Given the description of an element on the screen output the (x, y) to click on. 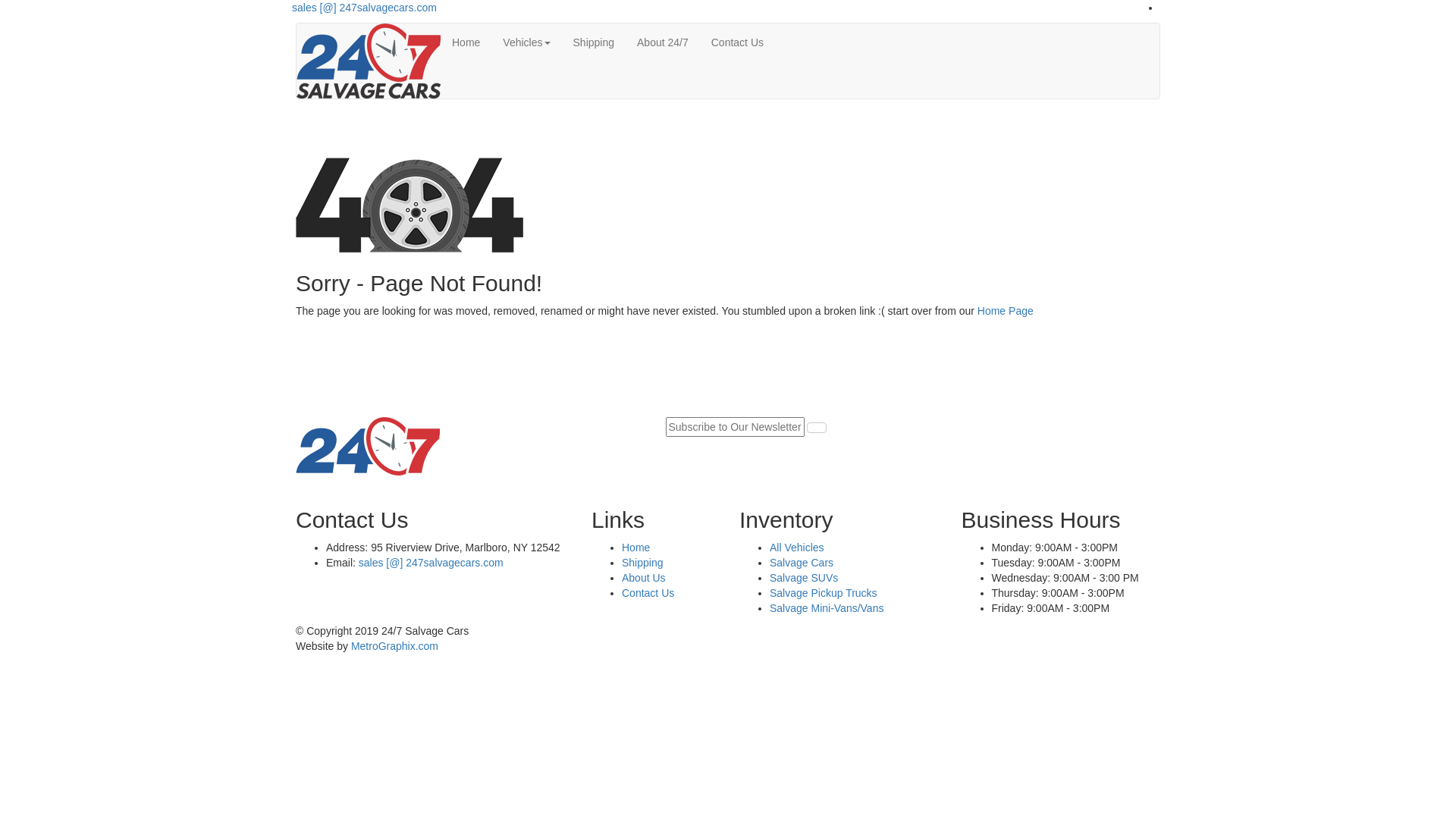
sales [@] 247salvagecars.com Element type: text (363, 7)
All Vehicles Element type: text (796, 547)
Contact Us Element type: text (647, 592)
Salvage Pickup Trucks Element type: text (823, 592)
Salvage Cars Element type: text (801, 562)
Home Page Element type: text (1005, 310)
sales [@] 247salvagecars.com Element type: text (429, 562)
MetroGraphix.com Element type: text (394, 646)
Home Element type: text (465, 42)
Shipping Element type: text (642, 562)
Salvage Mini-Vans/Vans Element type: text (826, 608)
404 Element type: hover (409, 199)
Vehicles Element type: text (526, 42)
About Us Element type: text (643, 577)
Contact Us Element type: text (737, 42)
Salvage SUVs Element type: text (803, 577)
About 24/7 Element type: text (662, 42)
Home Element type: text (635, 547)
Shipping Element type: text (593, 42)
